Given the description of an element on the screen output the (x, y) to click on. 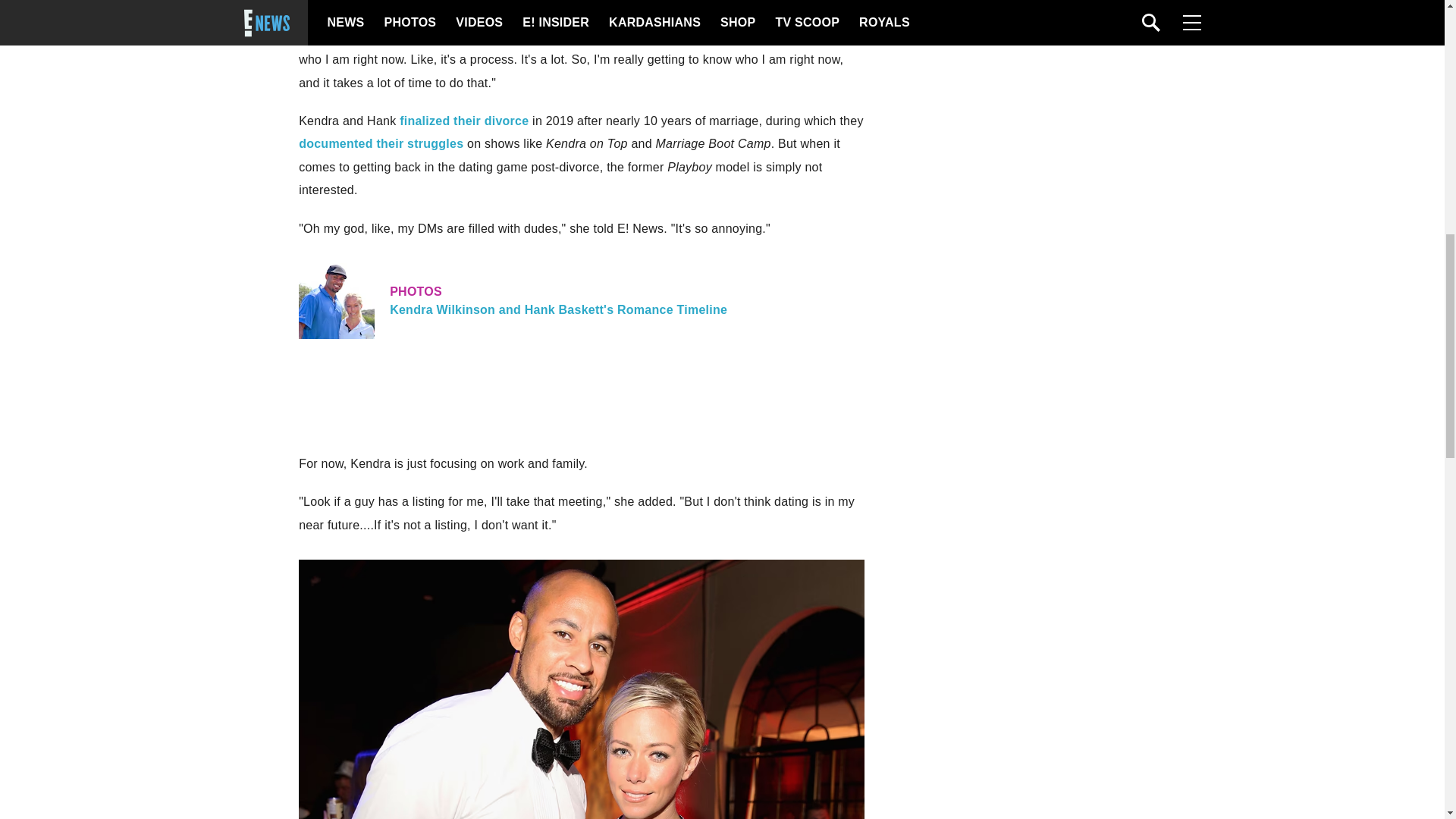
documented their struggles (581, 300)
E! News (380, 143)
finalized their divorce (384, 36)
